Given the description of an element on the screen output the (x, y) to click on. 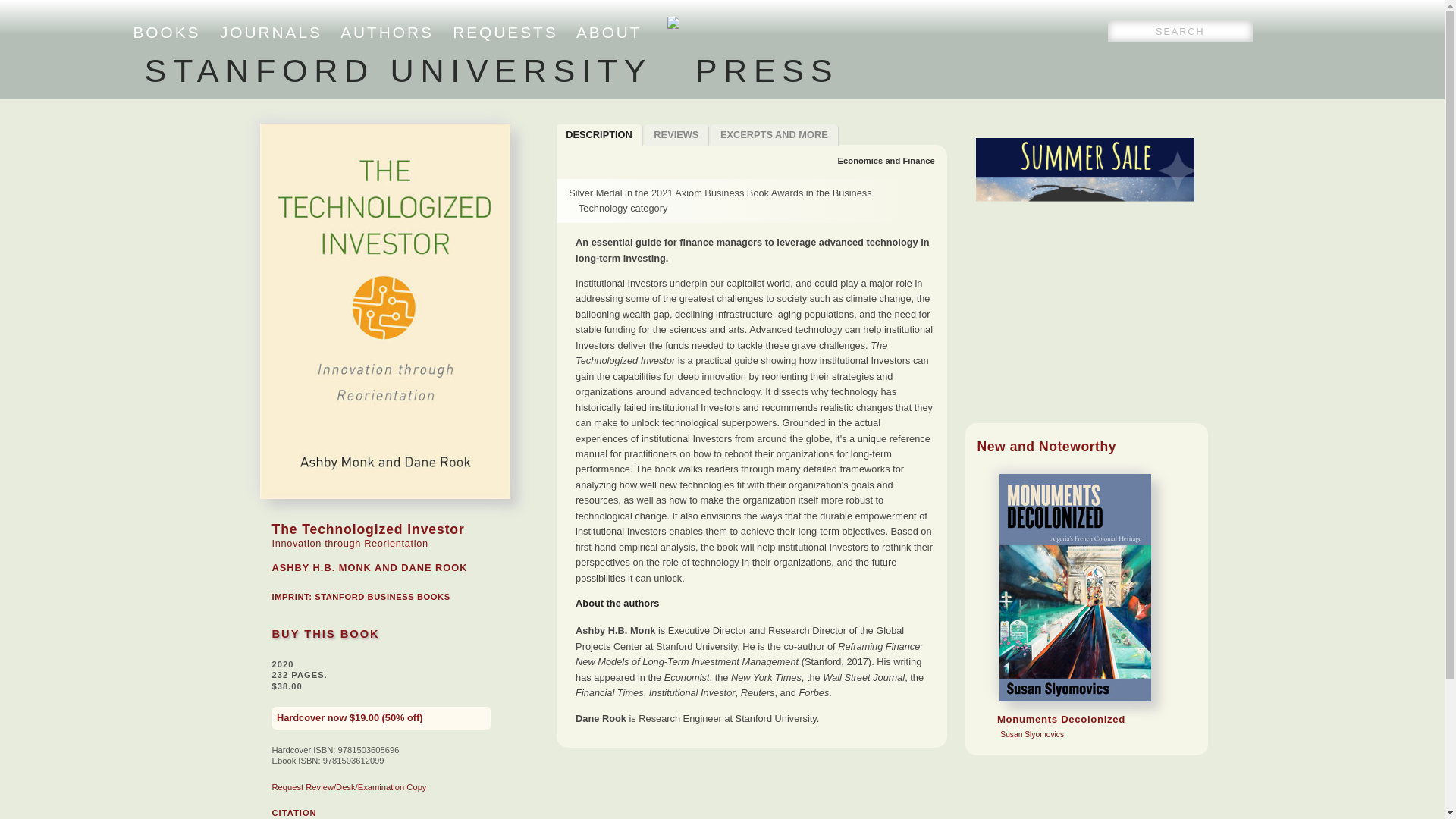
BUY THIS BOOK (324, 633)
DESCRIPTION (599, 134)
STANFORD BUSINESS BOOKS (381, 596)
STANFORD UNIVERSITY PRESS (491, 70)
REQUESTS (504, 31)
CITATION (292, 812)
JOURNALS (270, 31)
ABOUT (774, 134)
Economics and Finance (609, 31)
BOOKS (886, 160)
AUTHORS (166, 31)
REVIEWS (386, 31)
